Given the description of an element on the screen output the (x, y) to click on. 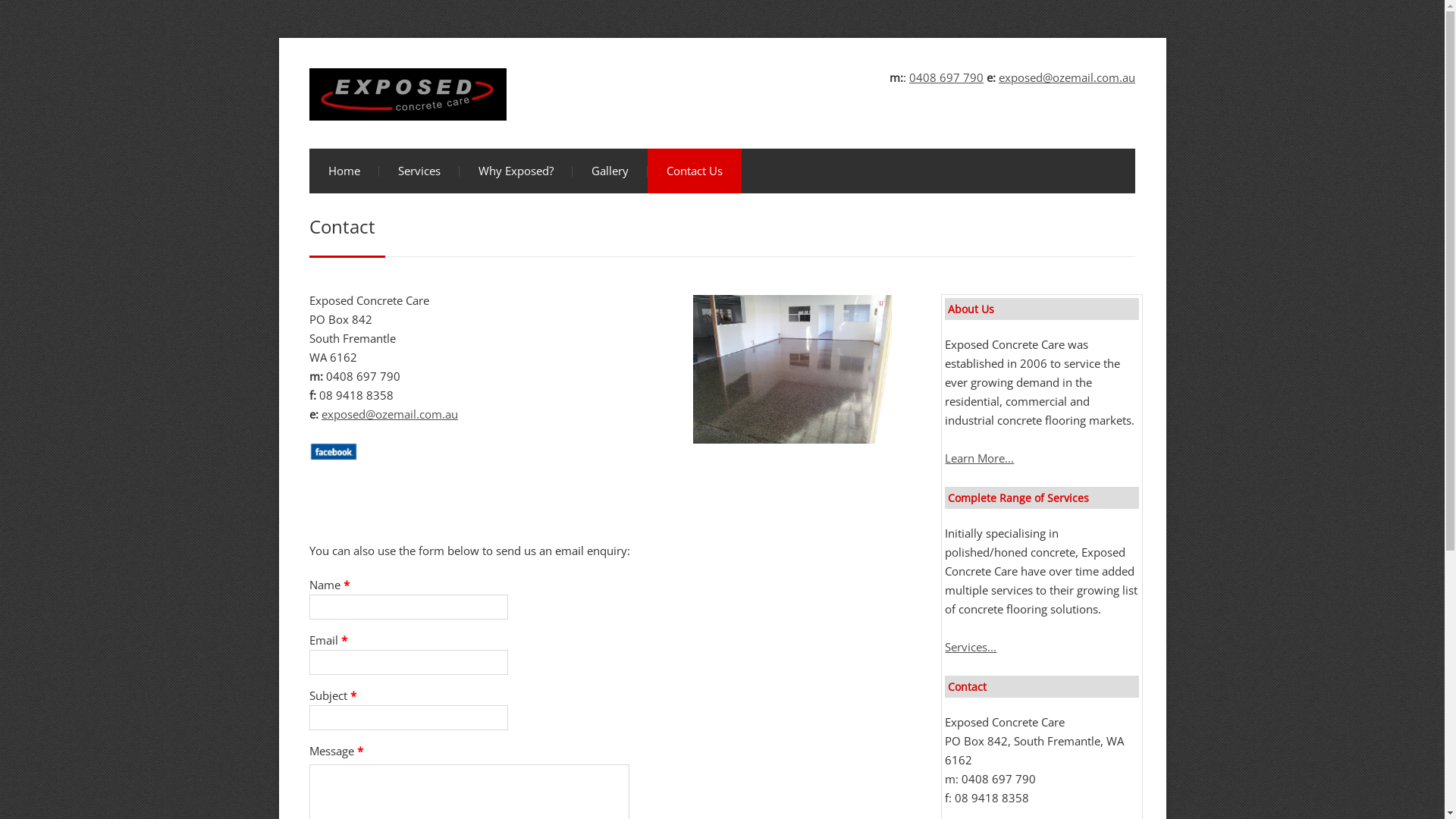
Home Element type: text (344, 170)
Join us on Facebook Element type: hover (333, 451)
Services... Element type: text (970, 646)
Contact Us Element type: text (694, 170)
exposed@ozemail.com.au Element type: text (1066, 76)
Why Exposed? Element type: text (515, 170)
exposed@ozemail.com.au Element type: text (389, 413)
Learn More... Element type: text (978, 457)
Services Element type: text (419, 170)
0408 697 790 Element type: text (946, 76)
Gallery Element type: text (609, 170)
